Given the description of an element on the screen output the (x, y) to click on. 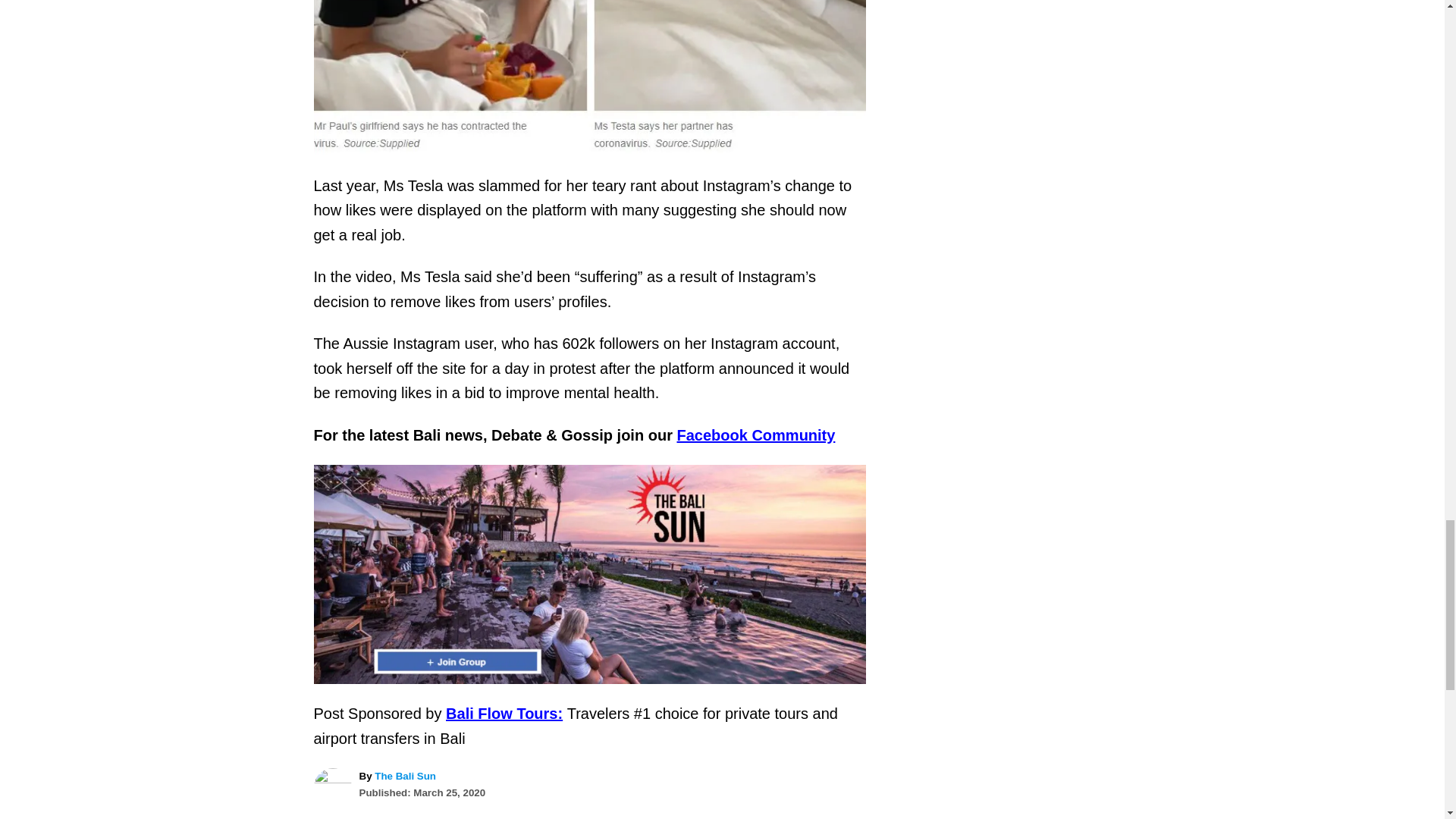
The Bali Sun (404, 776)
Bali Flow Tours: (503, 713)
Facebook Community (755, 434)
